Given the description of an element on the screen output the (x, y) to click on. 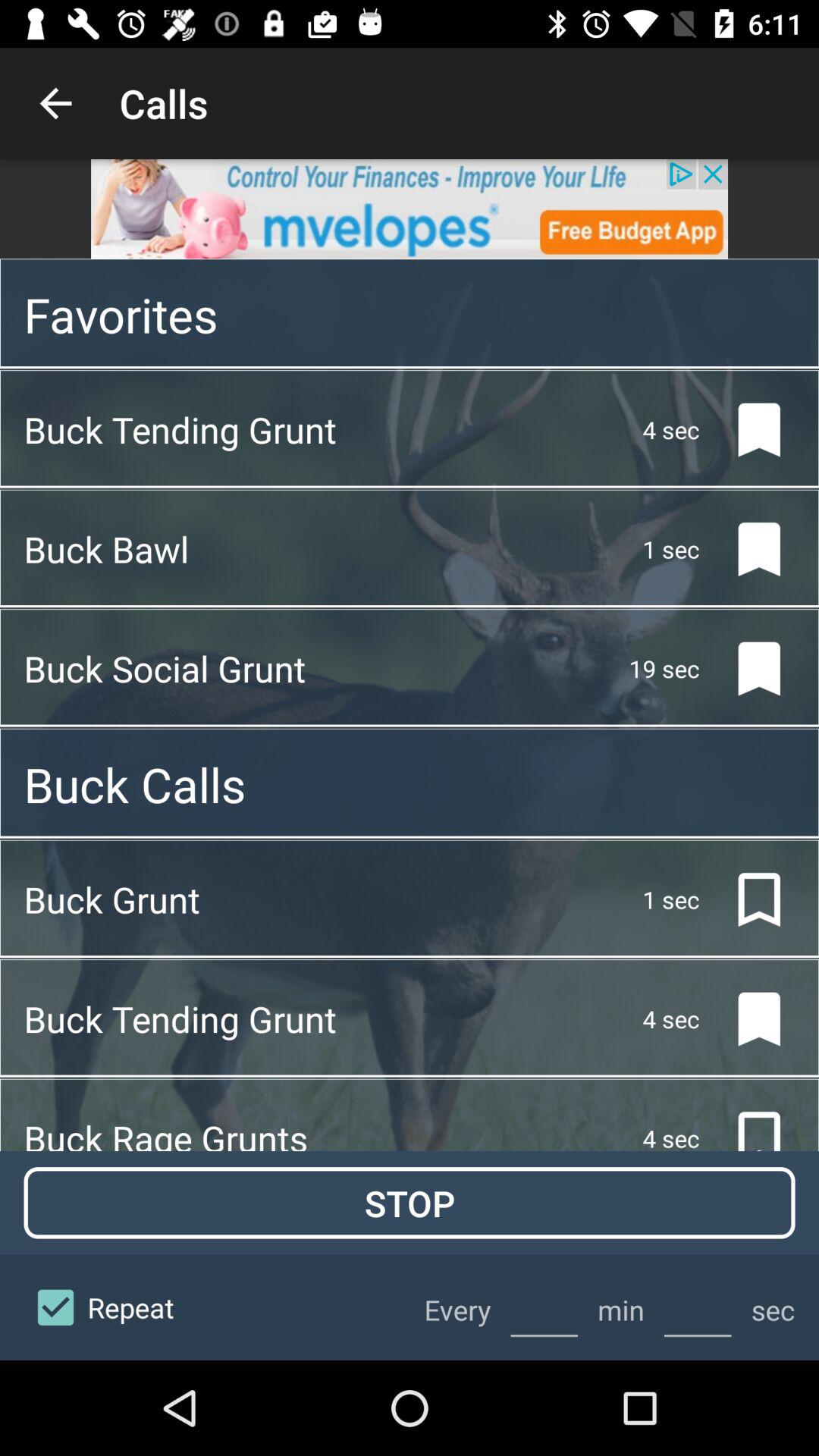
enter minute (543, 1307)
